Given the description of an element on the screen output the (x, y) to click on. 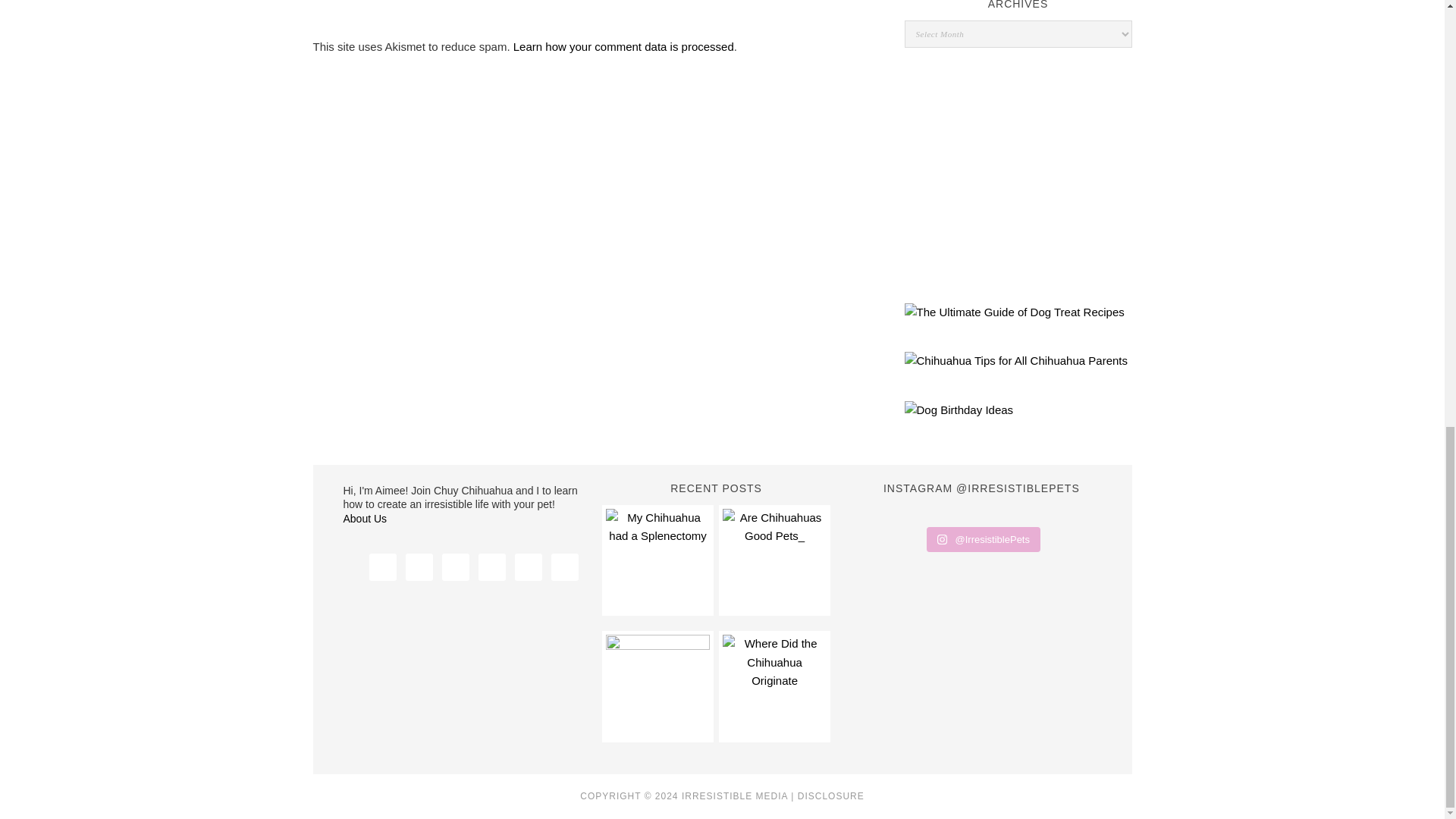
My Chihuahua Had a Splenectomy (657, 559)
About Us (364, 518)
Where Did the Chihuahua Originate? (773, 685)
Are Chihuahuas Good Pets? (773, 559)
Learn how your comment data is processed (623, 46)
